Given the description of an element on the screen output the (x, y) to click on. 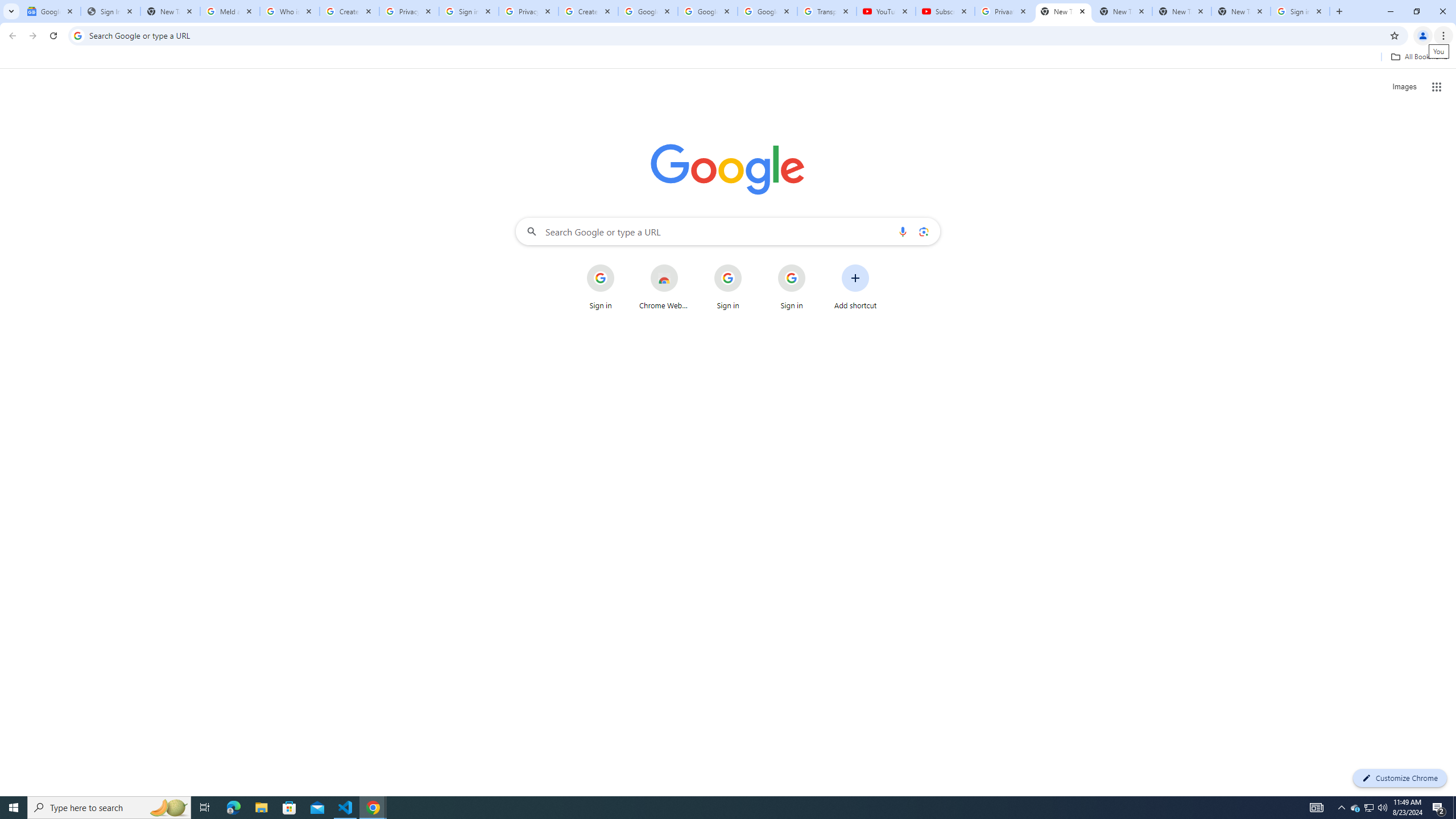
Create your Google Account (588, 11)
New Tab (1241, 11)
Sign in - Google Accounts (1300, 11)
Search Google or type a URL (727, 230)
Who is my administrator? - Google Account Help (289, 11)
YouTube (885, 11)
More actions for Sign in shortcut (814, 265)
